Given the description of an element on the screen output the (x, y) to click on. 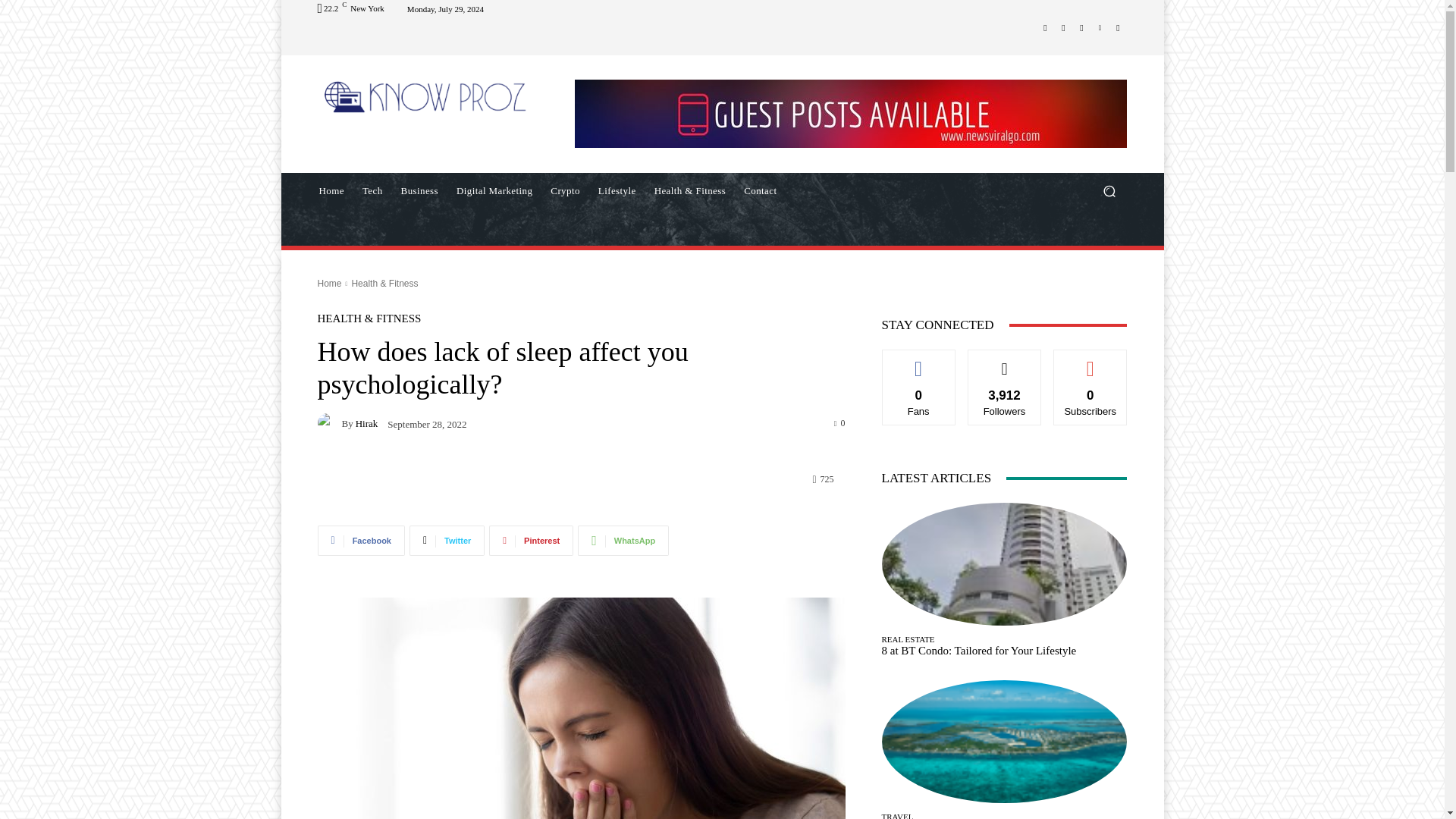
Tech (372, 190)
Digital Marketing (493, 190)
Business (418, 190)
Home (330, 190)
Home (328, 283)
Instagram (1062, 27)
Youtube (1117, 27)
Twitter (1080, 27)
Vimeo (1099, 27)
Hirak (328, 423)
Facebook (1044, 27)
Facebook (360, 540)
Crypto (565, 190)
Lifestyle (617, 190)
Contact (760, 190)
